Given the description of an element on the screen output the (x, y) to click on. 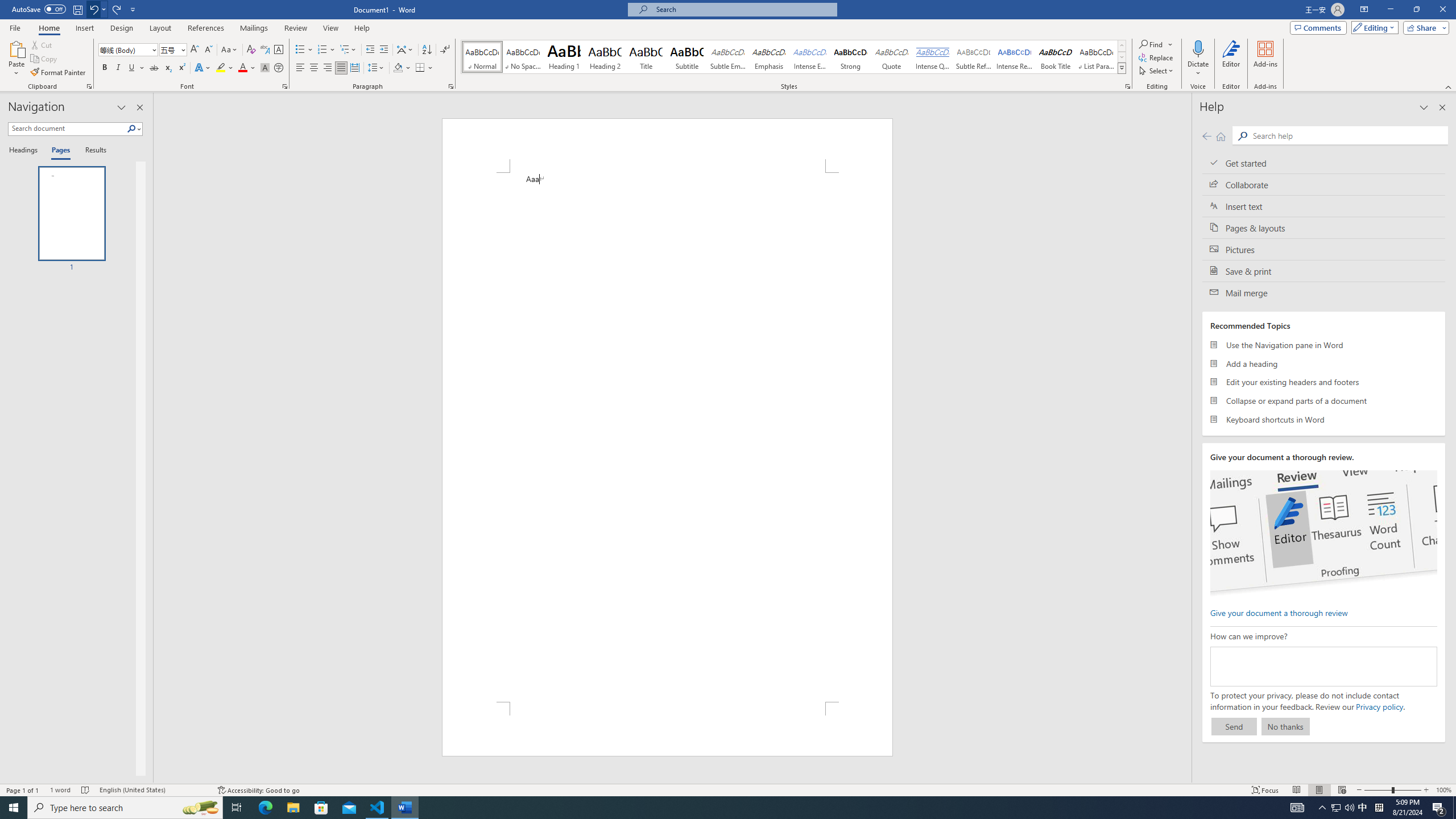
Copy (45, 58)
Heading 2 (605, 56)
Undo Increase Indent (96, 9)
Intense Reference (1014, 56)
Quote (891, 56)
Emphasis (768, 56)
Undo Increase Indent (92, 9)
Search document (66, 128)
